Given the description of an element on the screen output the (x, y) to click on. 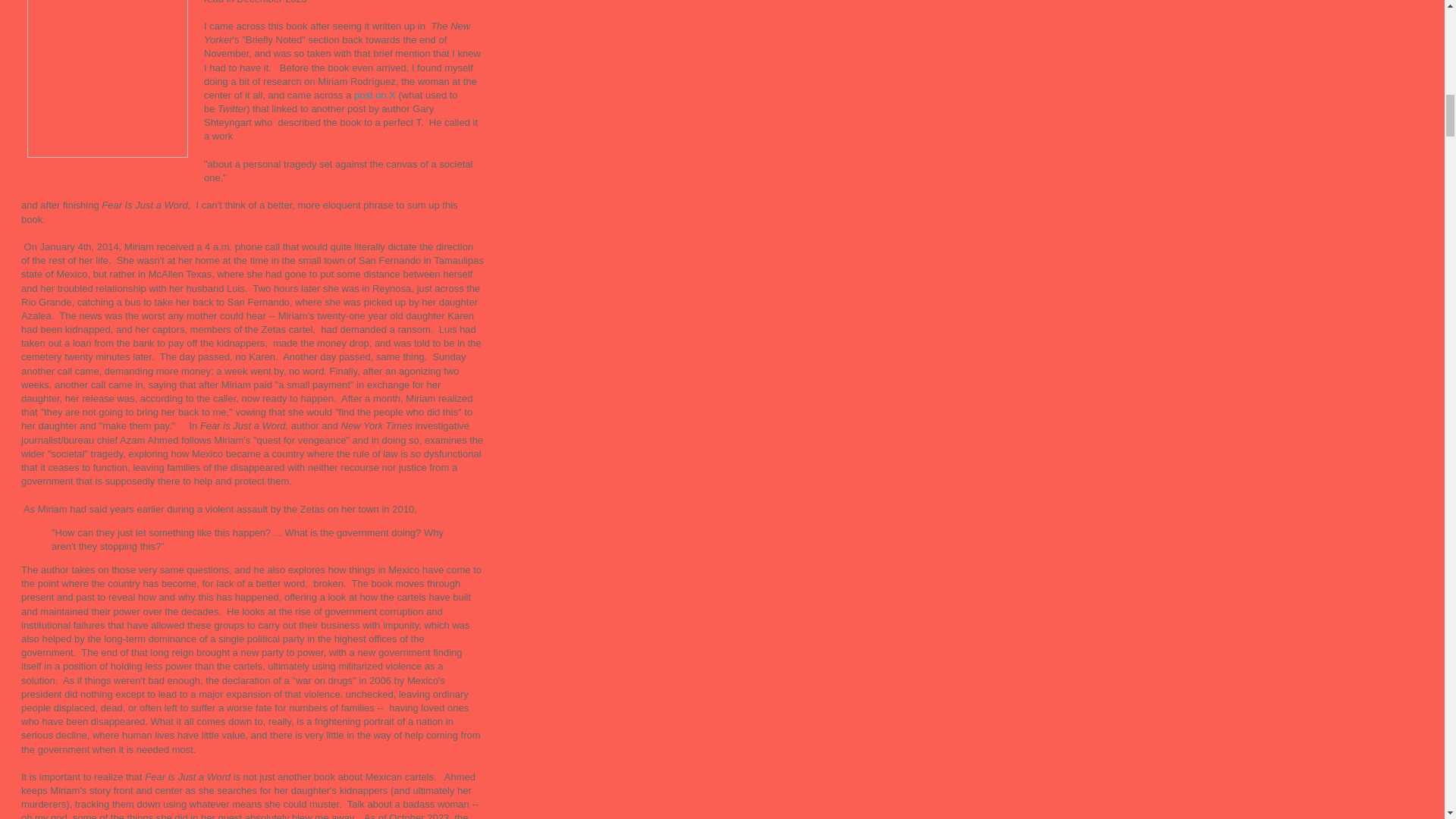
post on X (374, 94)
